Given the description of an element on the screen output the (x, y) to click on. 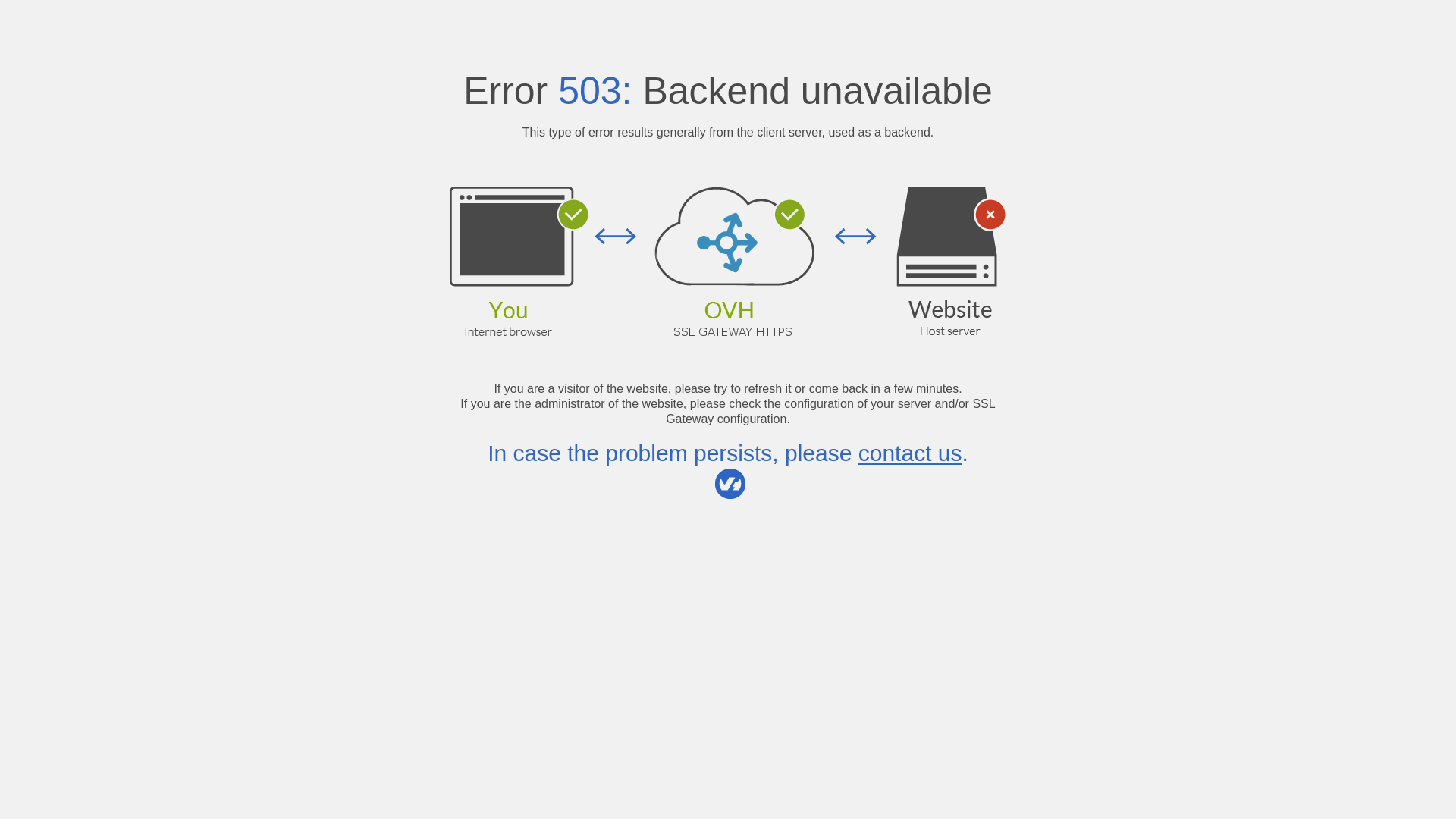
contact us Element type: text (910, 452)
